Given the description of an element on the screen output the (x, y) to click on. 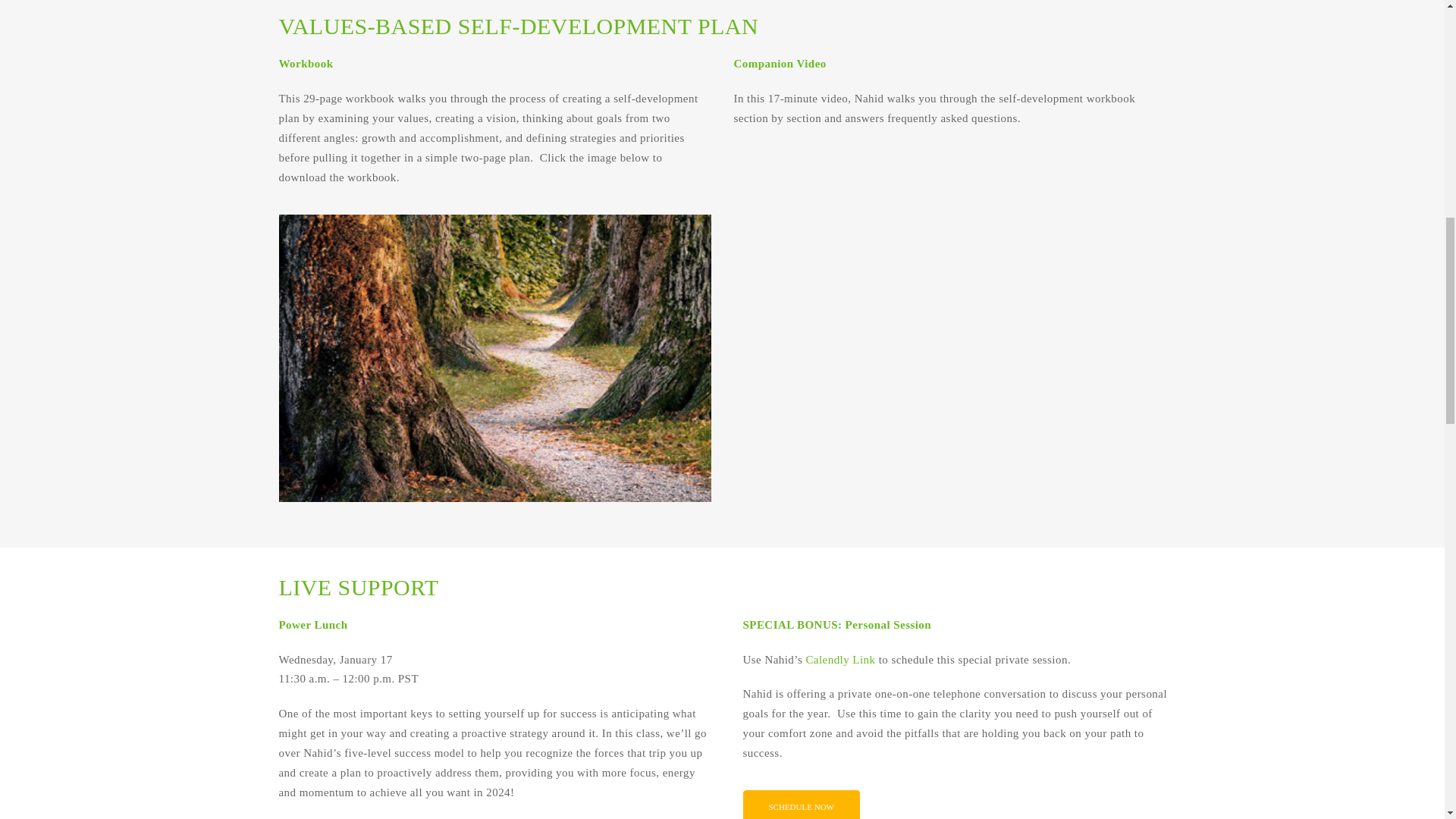
Schedule Now (801, 804)
Overview of Goal Setting Workbook (949, 335)
WoodsPath (495, 358)
